Given the description of an element on the screen output the (x, y) to click on. 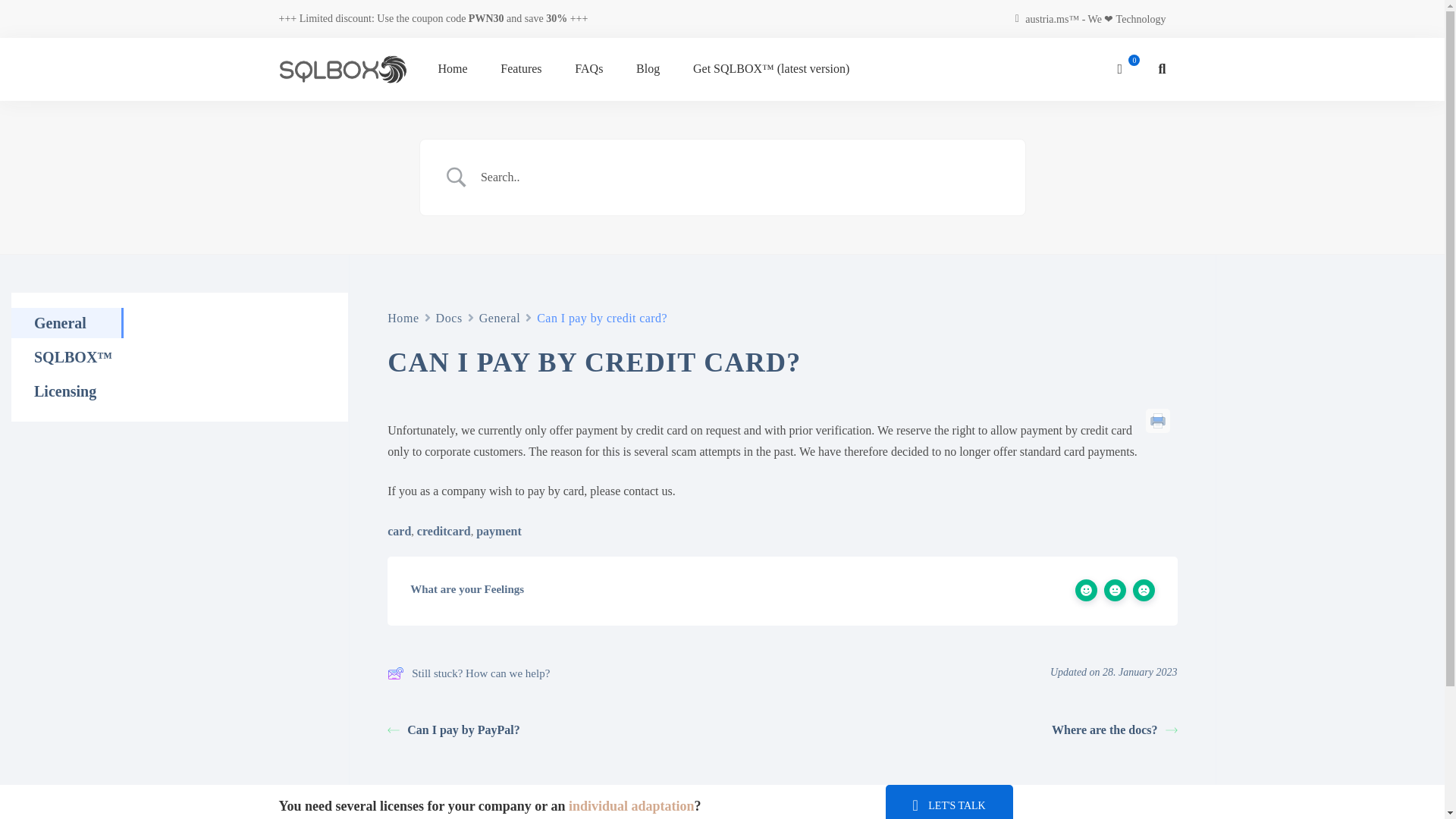
creditcard (443, 530)
General (500, 317)
Home (403, 317)
Docs (449, 317)
Can I pay by PayPal? (453, 730)
Home (403, 317)
Features (520, 68)
FAQs (588, 68)
General (500, 317)
View your shopping cart (1128, 68)
